Given the description of an element on the screen output the (x, y) to click on. 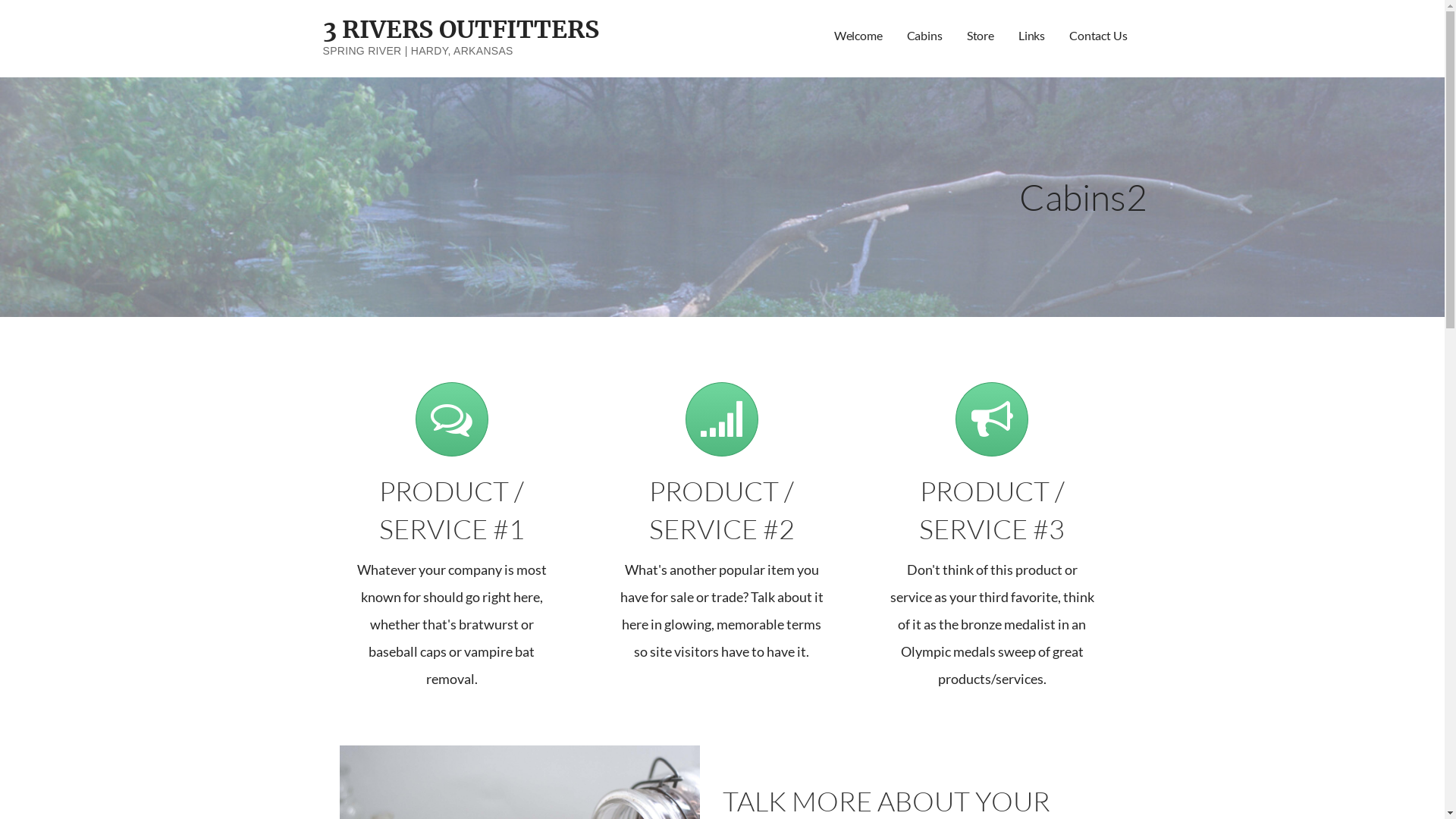
Welcome Element type: text (858, 36)
3 RIVERS OUTFITTERS Element type: text (461, 29)
Links Element type: text (1031, 36)
Store Element type: text (980, 36)
Contact Us Element type: text (1098, 36)
Cabins Element type: text (924, 36)
